Given the description of an element on the screen output the (x, y) to click on. 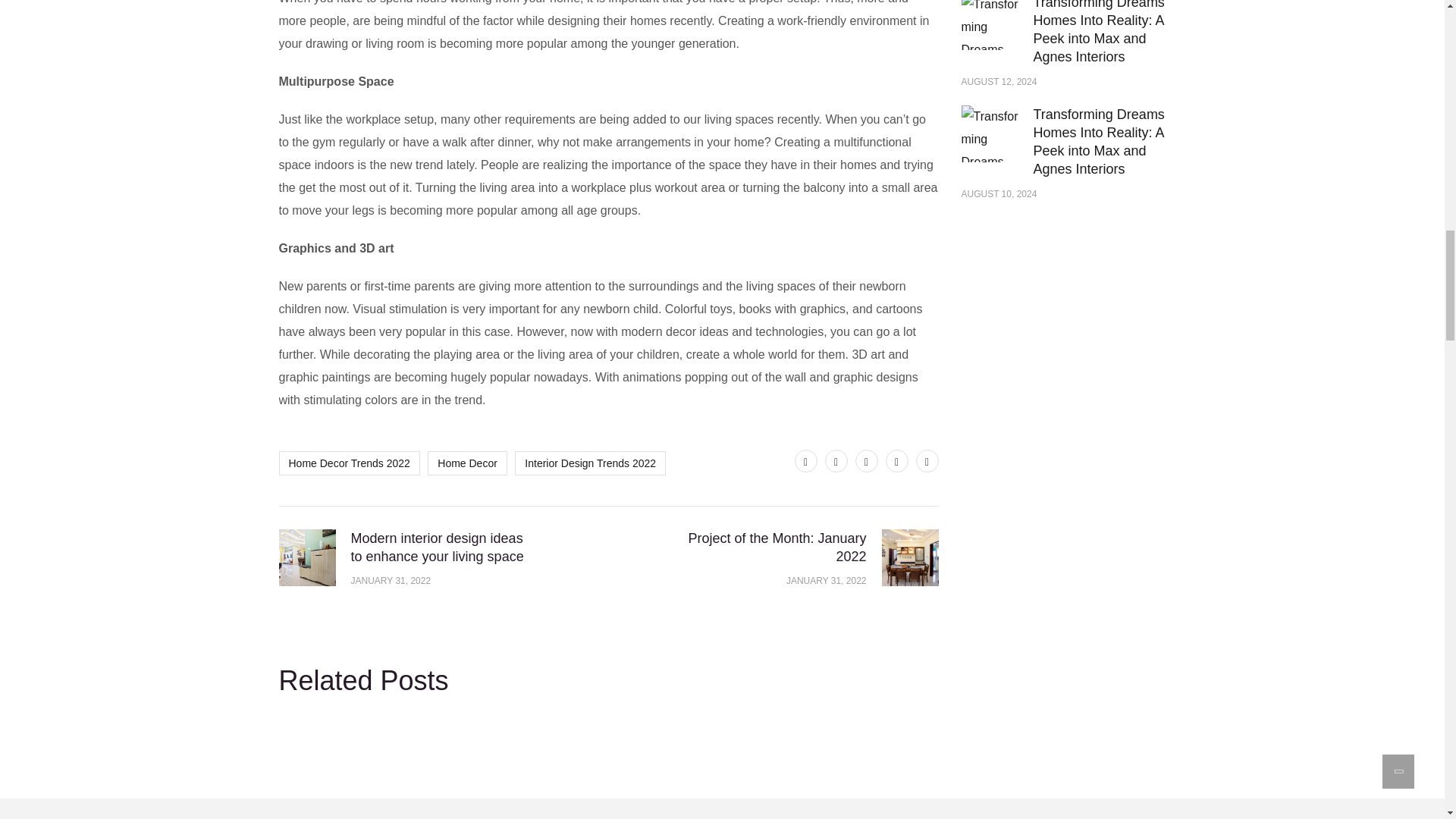
LinkedIn (896, 460)
Twitter (805, 460)
LinkedIn (927, 460)
Pinterest (866, 460)
Facebook (836, 460)
